Given the description of an element on the screen output the (x, y) to click on. 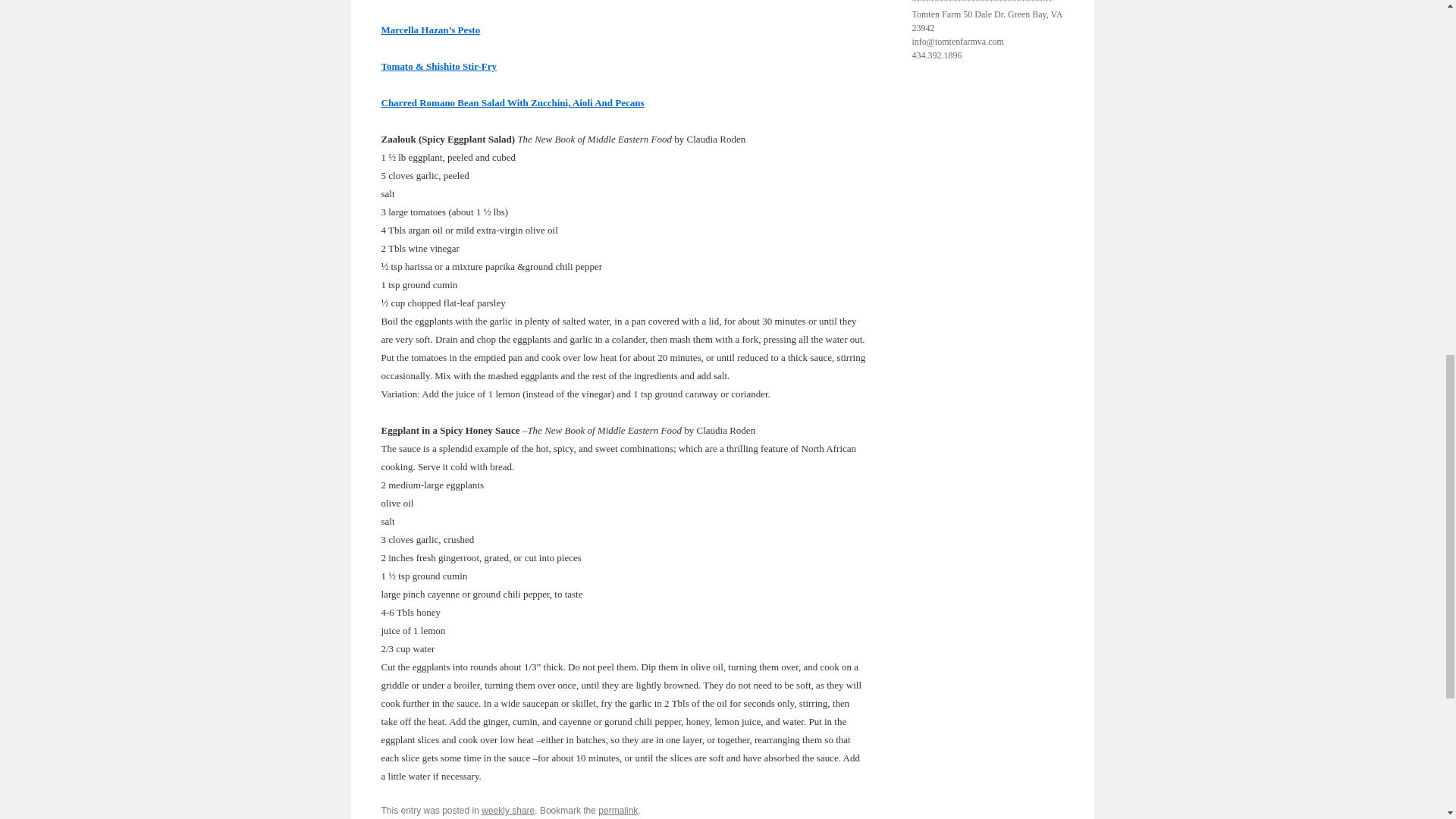
weekly share (507, 810)
permalink (617, 810)
Charred Romano Bean Salad With Zucchini, Aioli And Pecans (511, 102)
